Given the description of an element on the screen output the (x, y) to click on. 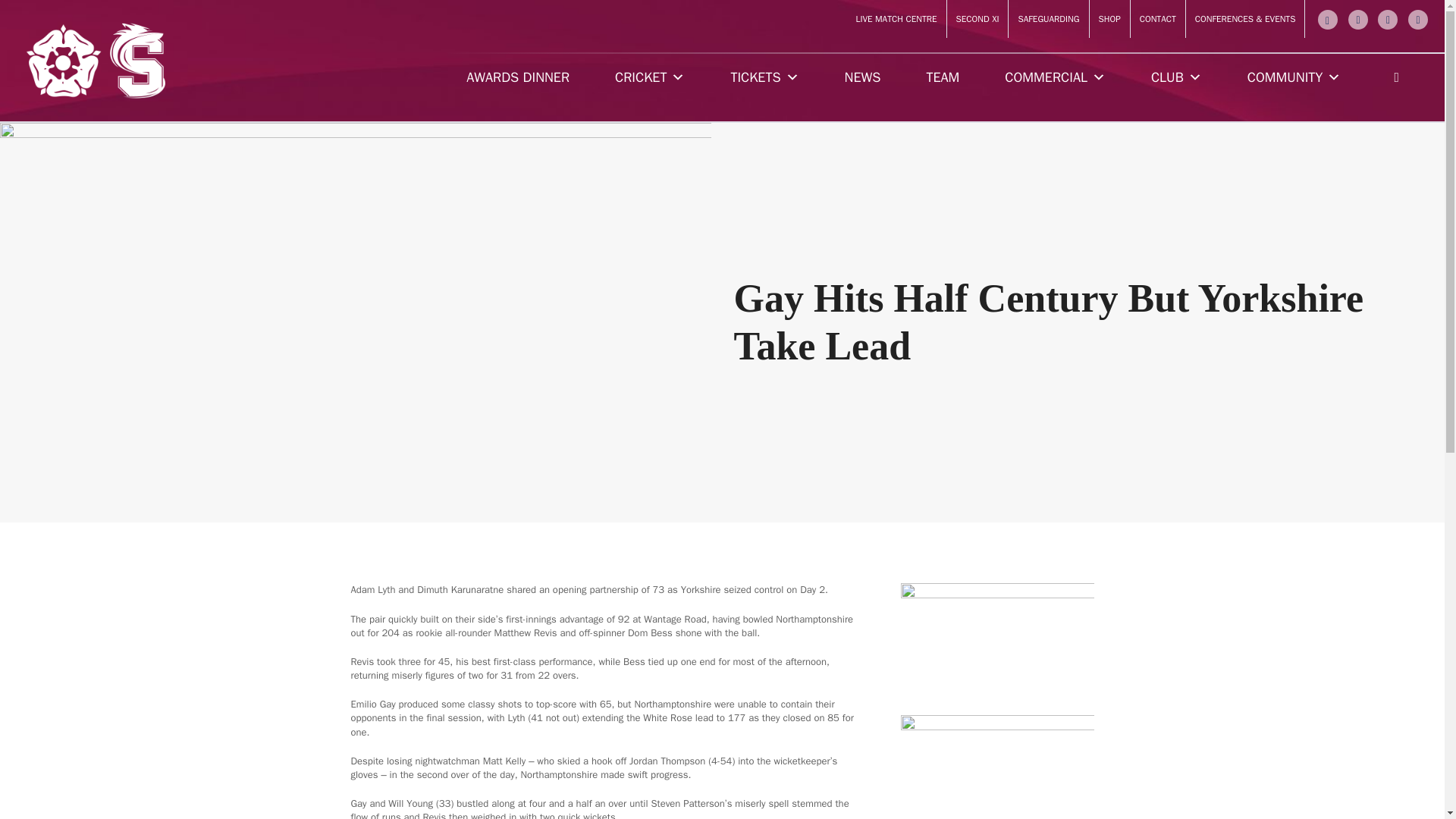
AWARDS DINNER (518, 77)
NEWS (863, 77)
SECOND XI (978, 18)
SHOP (1109, 18)
TICKETS (764, 77)
CONTACT (1158, 18)
SAFEGUARDING (1048, 18)
COMMERCIAL (1054, 77)
LIVE MATCH CENTRE (896, 18)
TEAM (941, 77)
